Given the description of an element on the screen output the (x, y) to click on. 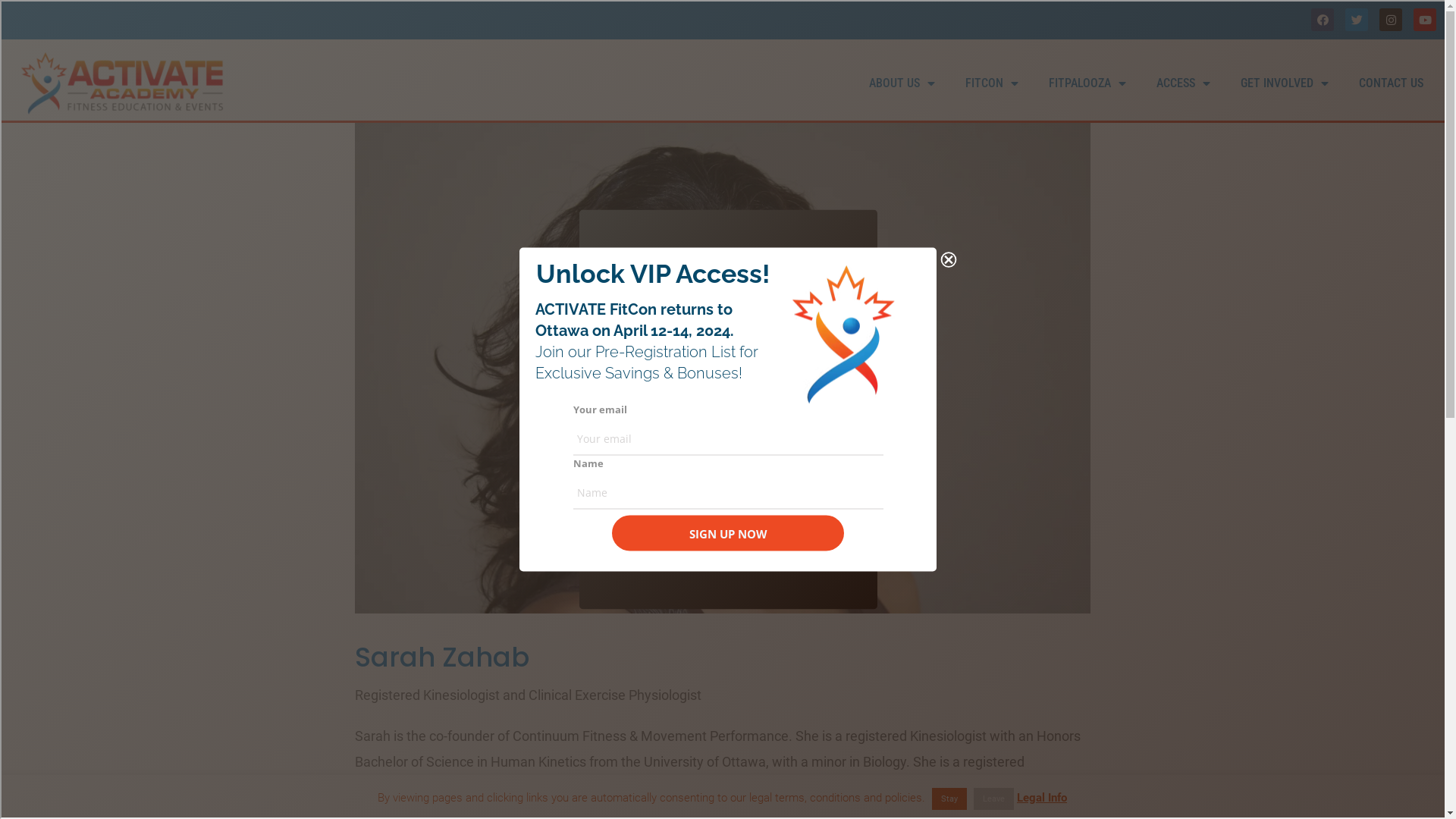
CONTACT US Element type: text (1390, 82)
GET INVOLVED Element type: text (1284, 82)
Legal Info Element type: text (1041, 797)
FITPALOOZA Element type: text (1087, 82)
ABOUT US Element type: text (901, 82)
Leave Element type: text (993, 798)
ACCESS Element type: text (1183, 82)
Stay Element type: text (948, 798)
FITCON Element type: text (991, 82)
